Given the description of an element on the screen output the (x, y) to click on. 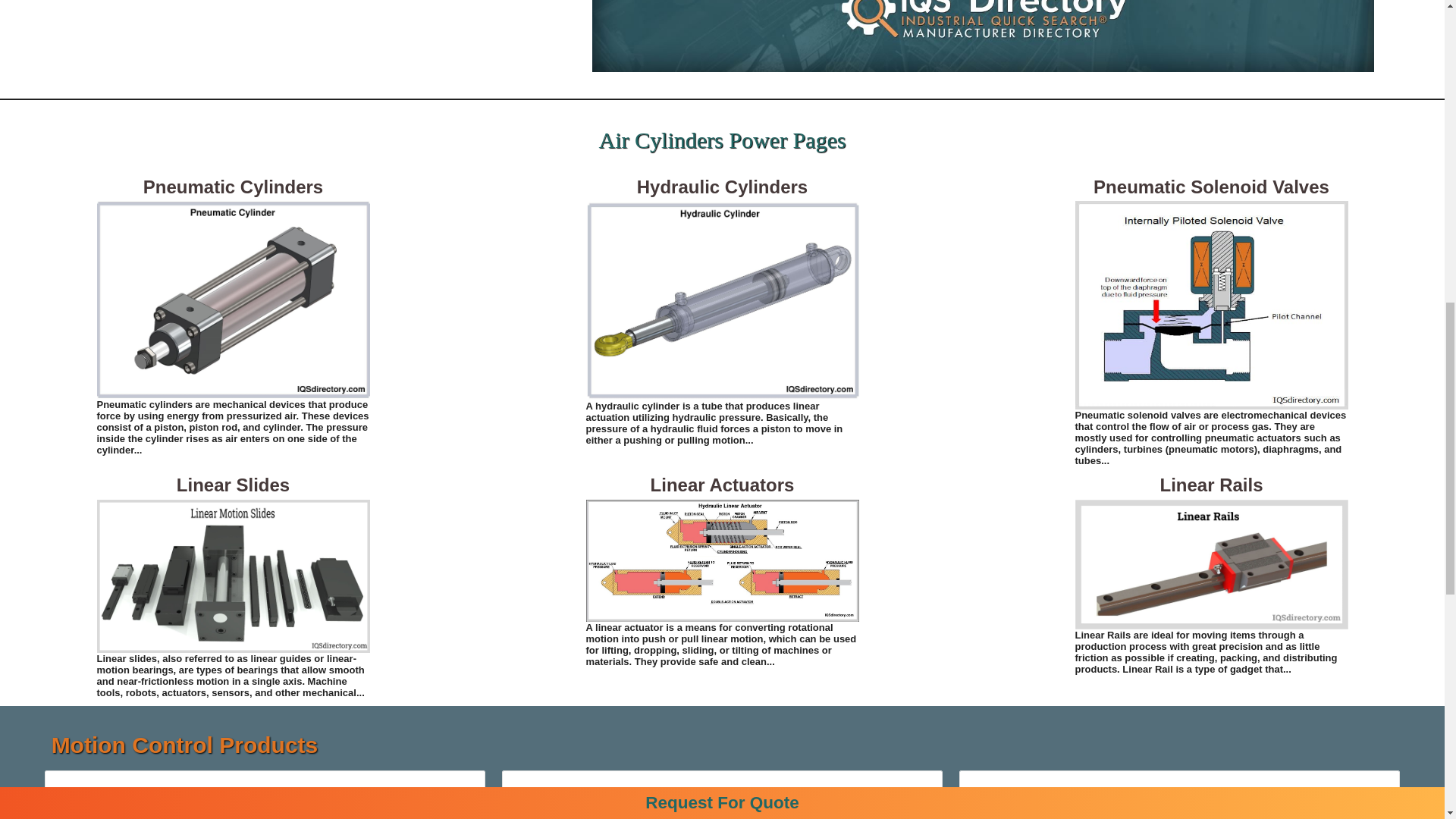
Linear Motion Slides (233, 575)
site preview (983, 36)
Hydraulic Cylinders (722, 299)
Pneumatic Solenoid Valves (1211, 304)
Pneumatic Cylinders (233, 299)
Linear Rails (1211, 563)
Linear Actuators (722, 559)
